Given the description of an element on the screen output the (x, y) to click on. 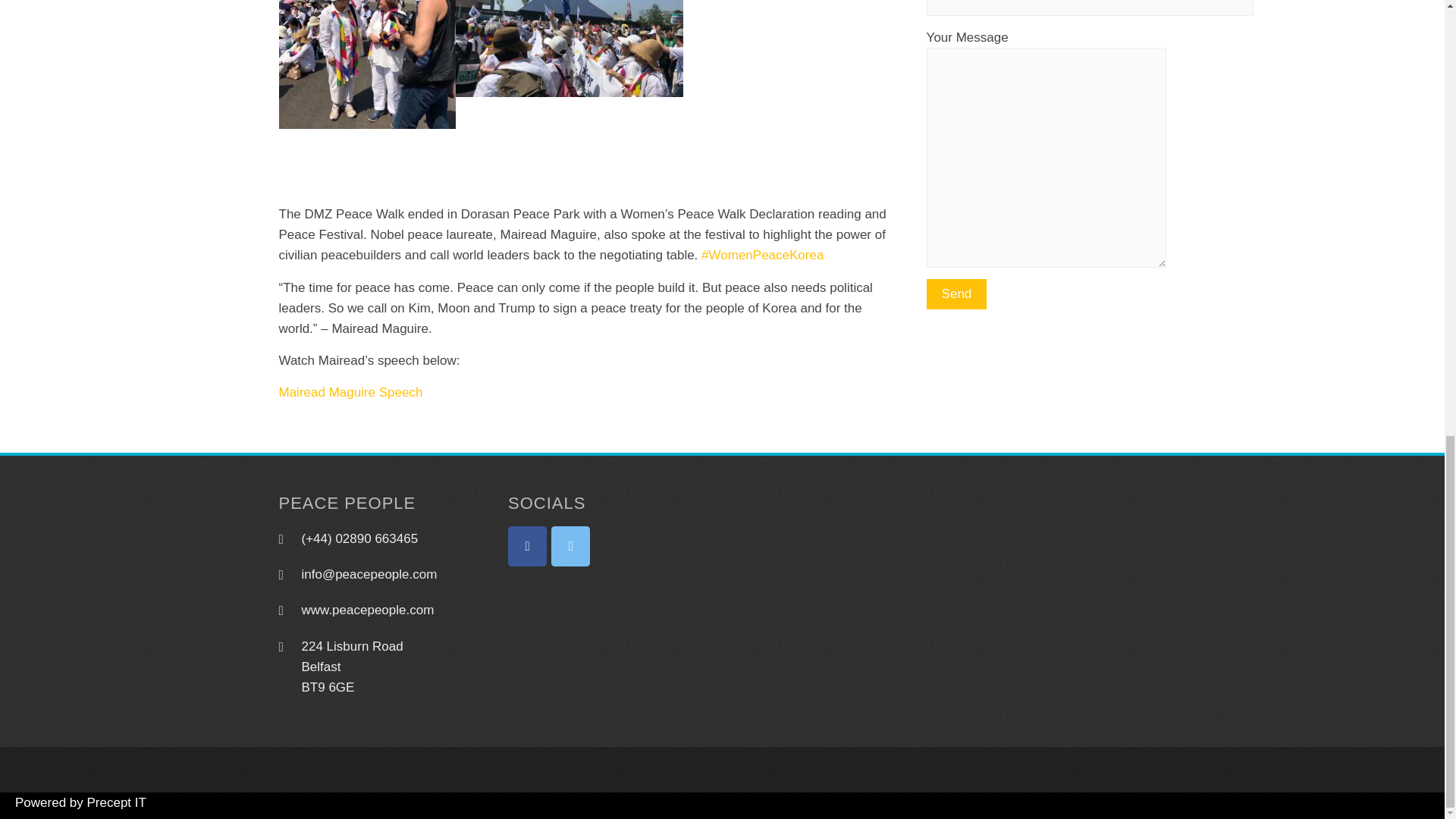
The Peace People on Twitter (570, 546)
Send (956, 294)
Mairead Maguire Speech (351, 391)
The Peace People on Facebook (527, 546)
Send (956, 294)
